Given the description of an element on the screen output the (x, y) to click on. 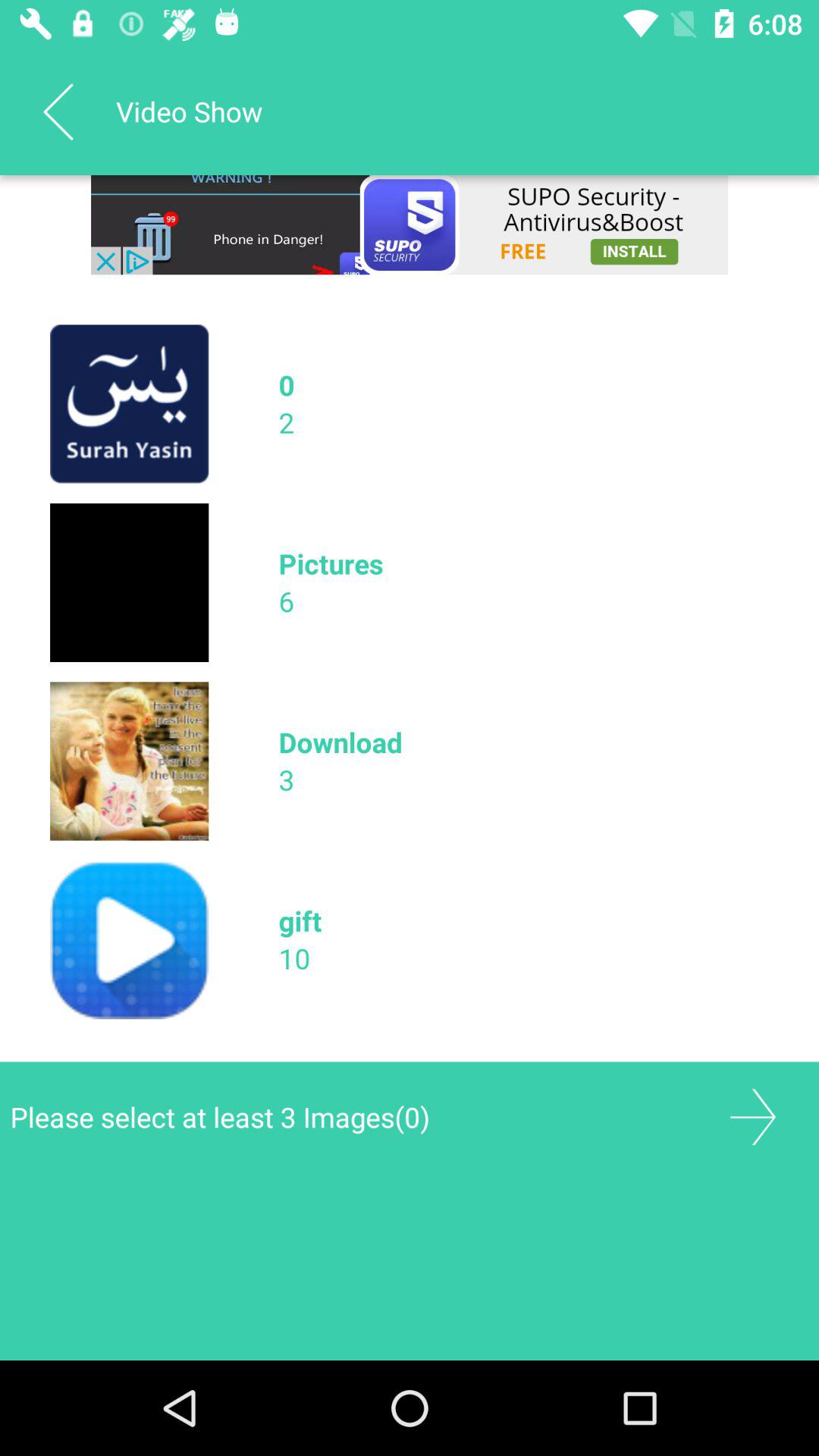
go to previous button (57, 111)
